Given the description of an element on the screen output the (x, y) to click on. 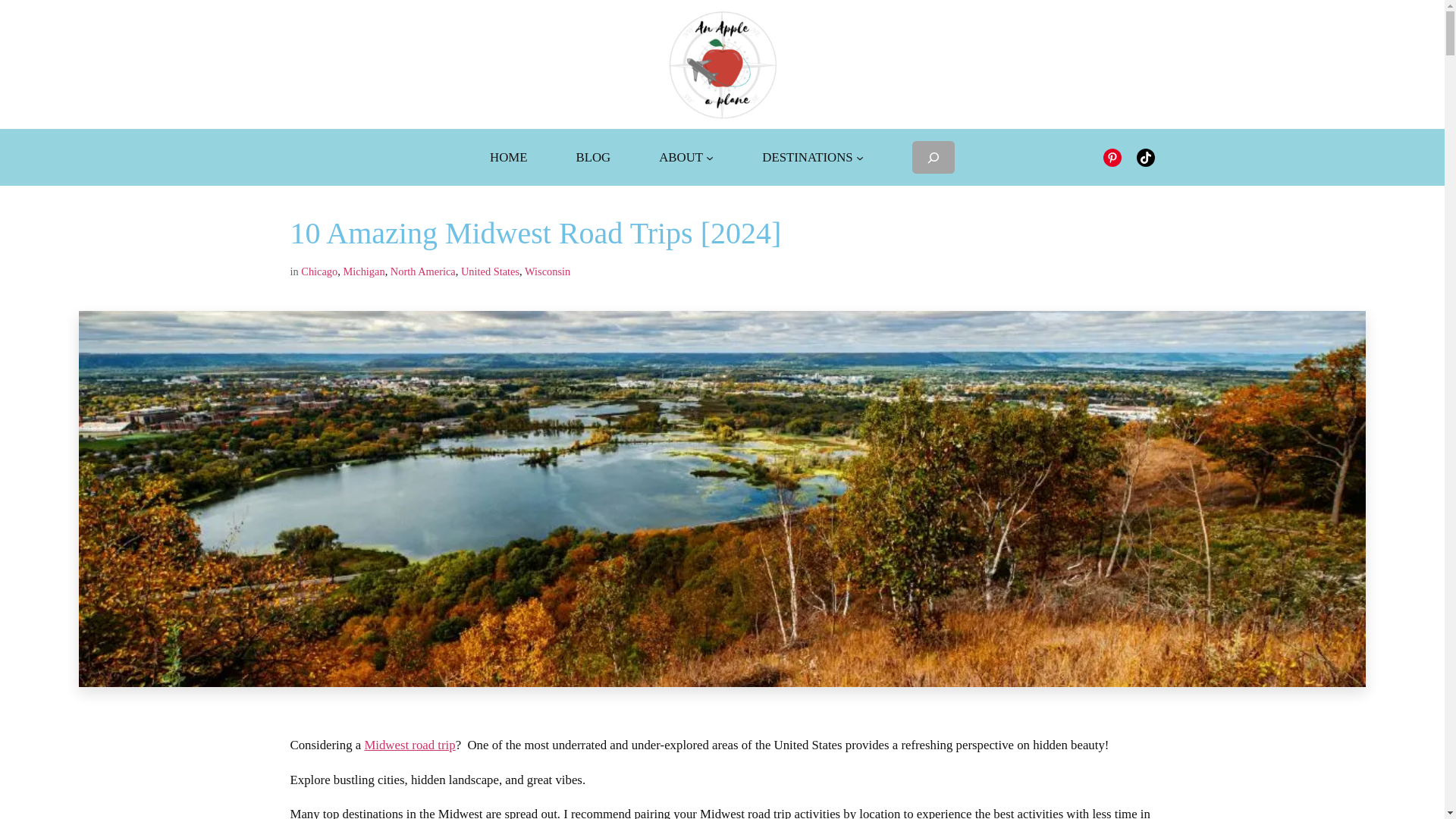
Pinterest (1112, 157)
HOME (508, 157)
United States (490, 271)
Wisconsin (547, 271)
Michigan (363, 271)
DESTINATIONS (806, 157)
North America (422, 271)
TikTok (1144, 157)
ABOUT (681, 157)
BLOG (593, 157)
Midwest road trip (409, 744)
Chicago (319, 271)
